Given the description of an element on the screen output the (x, y) to click on. 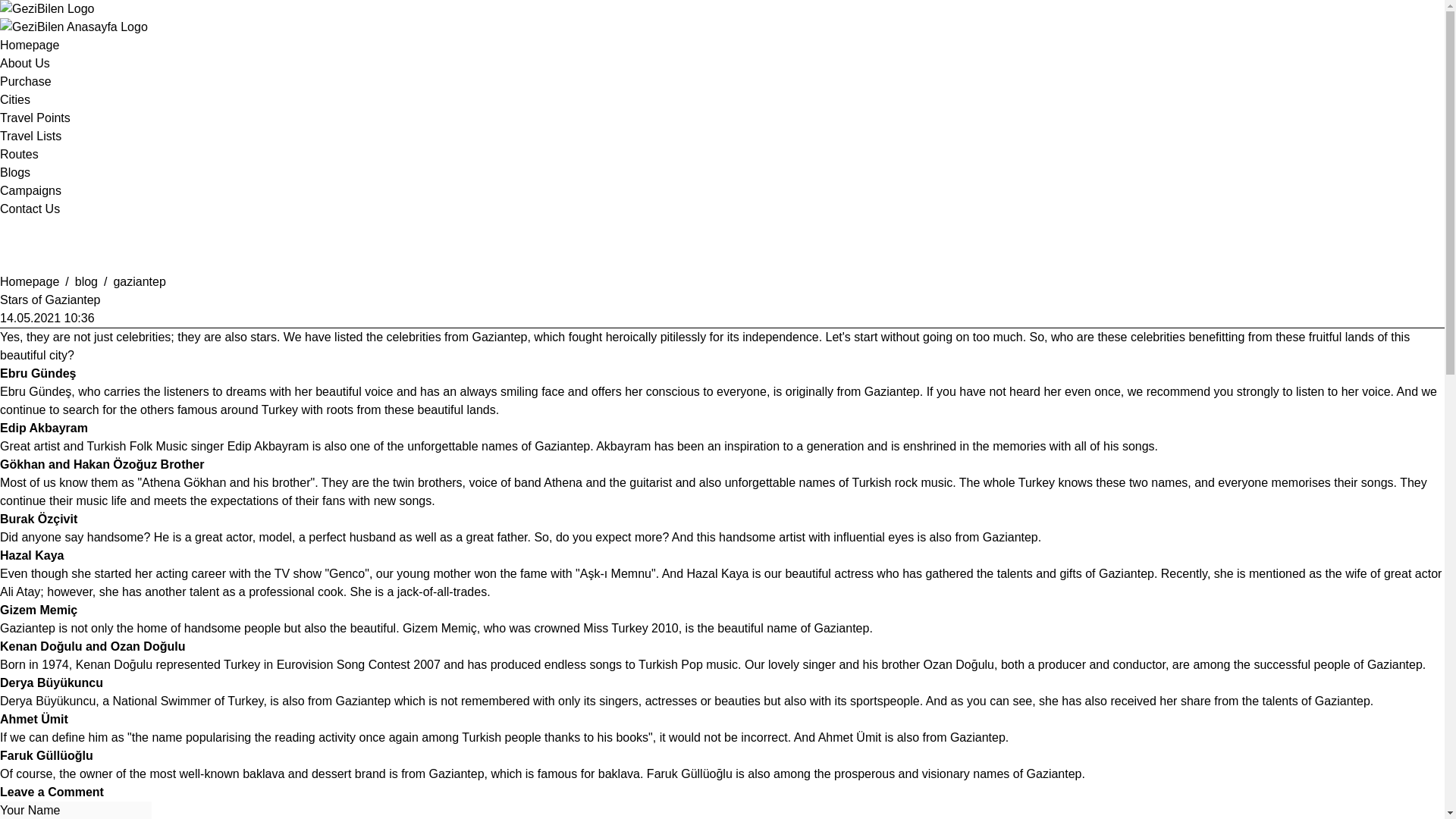
Routes (19, 154)
Campaigns (30, 190)
Contact Us (29, 208)
Homepage (29, 44)
Homepage (29, 44)
Blogs (15, 172)
Cities (15, 99)
About Us (24, 62)
Cities (15, 99)
Travel Points (34, 117)
